Given the description of an element on the screen output the (x, y) to click on. 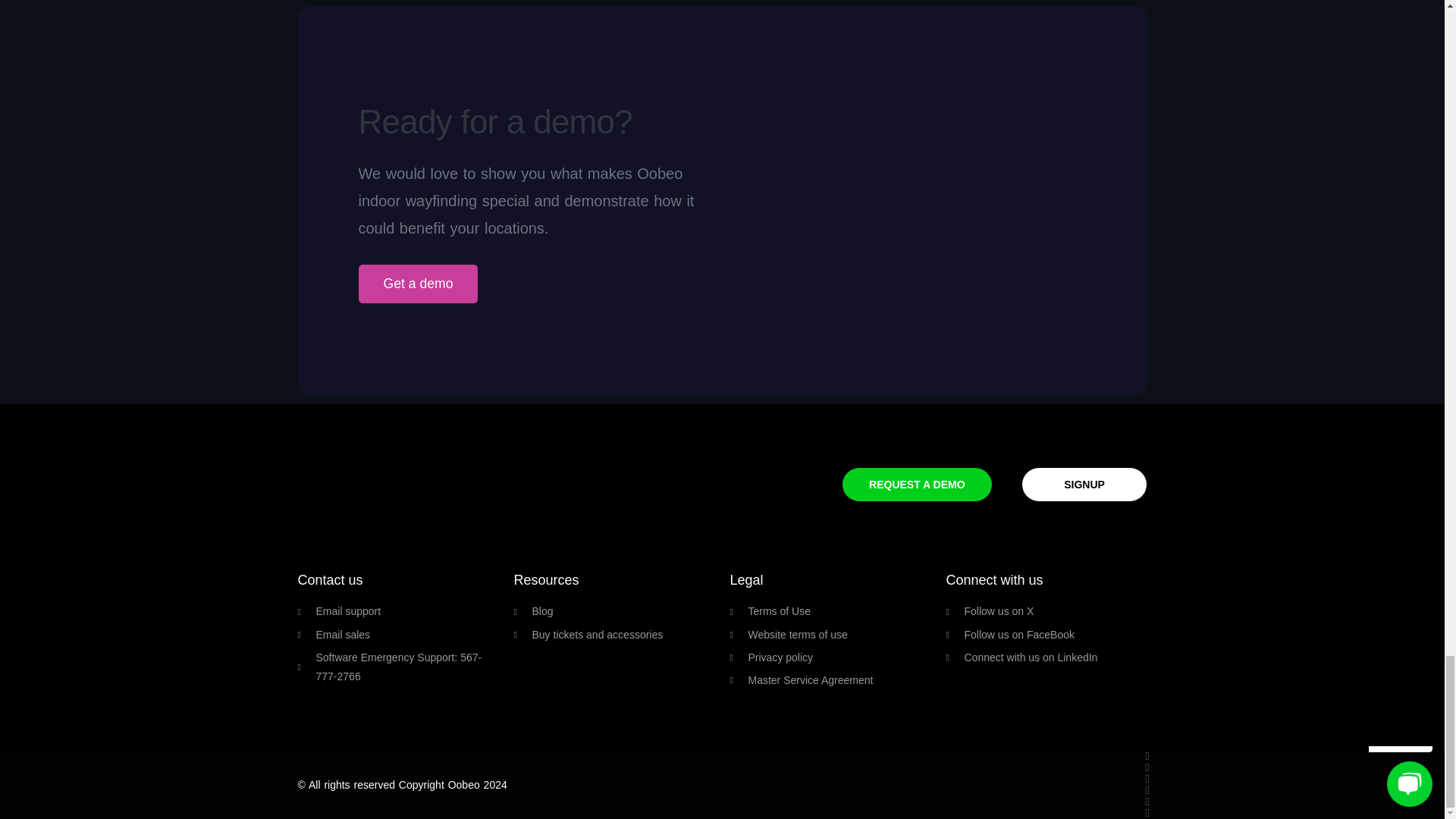
oobeo logo (372, 475)
Get a demo (417, 283)
REQUEST A DEMO (917, 484)
